Given the description of an element on the screen output the (x, y) to click on. 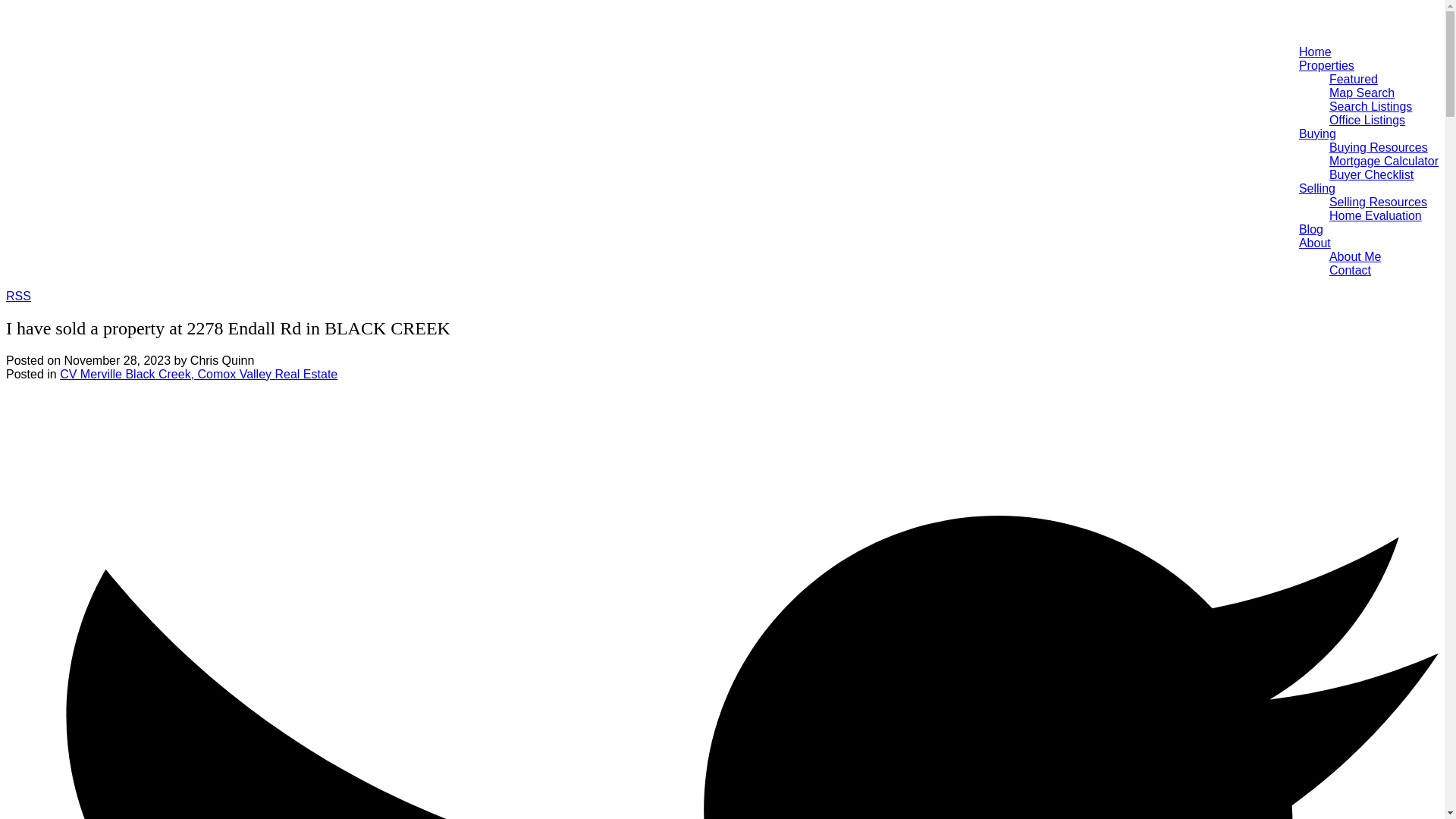
Selling Resources (1377, 201)
RSS (17, 295)
Selling (1316, 187)
Buyer Checklist (1371, 174)
CV Merville Black Creek, Comox Valley Real Estate (198, 373)
Blog (1310, 228)
Contact (1350, 269)
Search Listings (1370, 106)
Buying Resources (1378, 146)
Office Listings (1367, 119)
About Me (1354, 256)
Properties (1326, 65)
Home Evaluation (1375, 215)
Featured (1353, 78)
About (1314, 242)
